Given the description of an element on the screen output the (x, y) to click on. 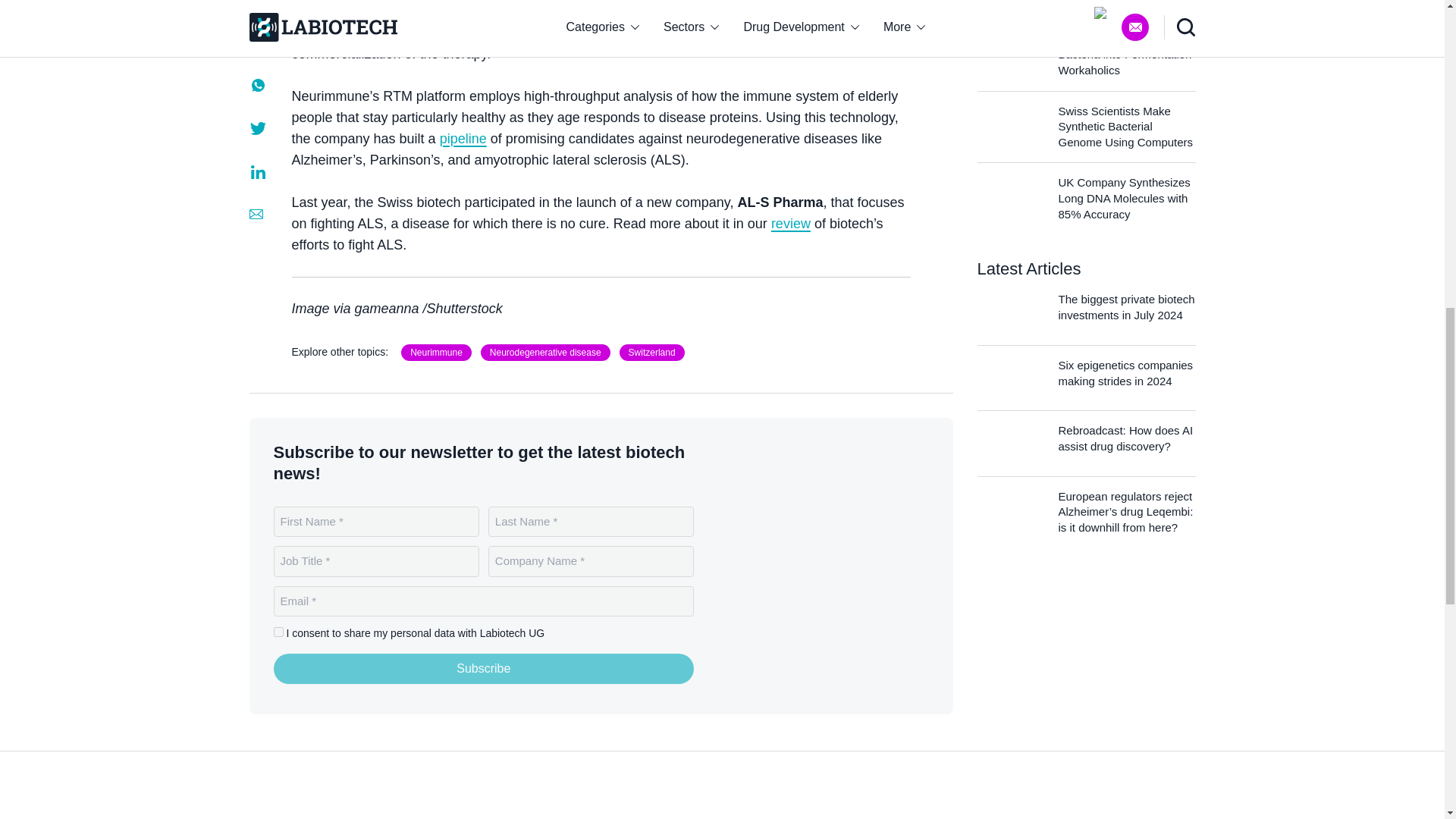
Labiotech.eu (834, 565)
Subscribe (483, 668)
1 (277, 632)
Labiotech.eu (309, 809)
